Given the description of an element on the screen output the (x, y) to click on. 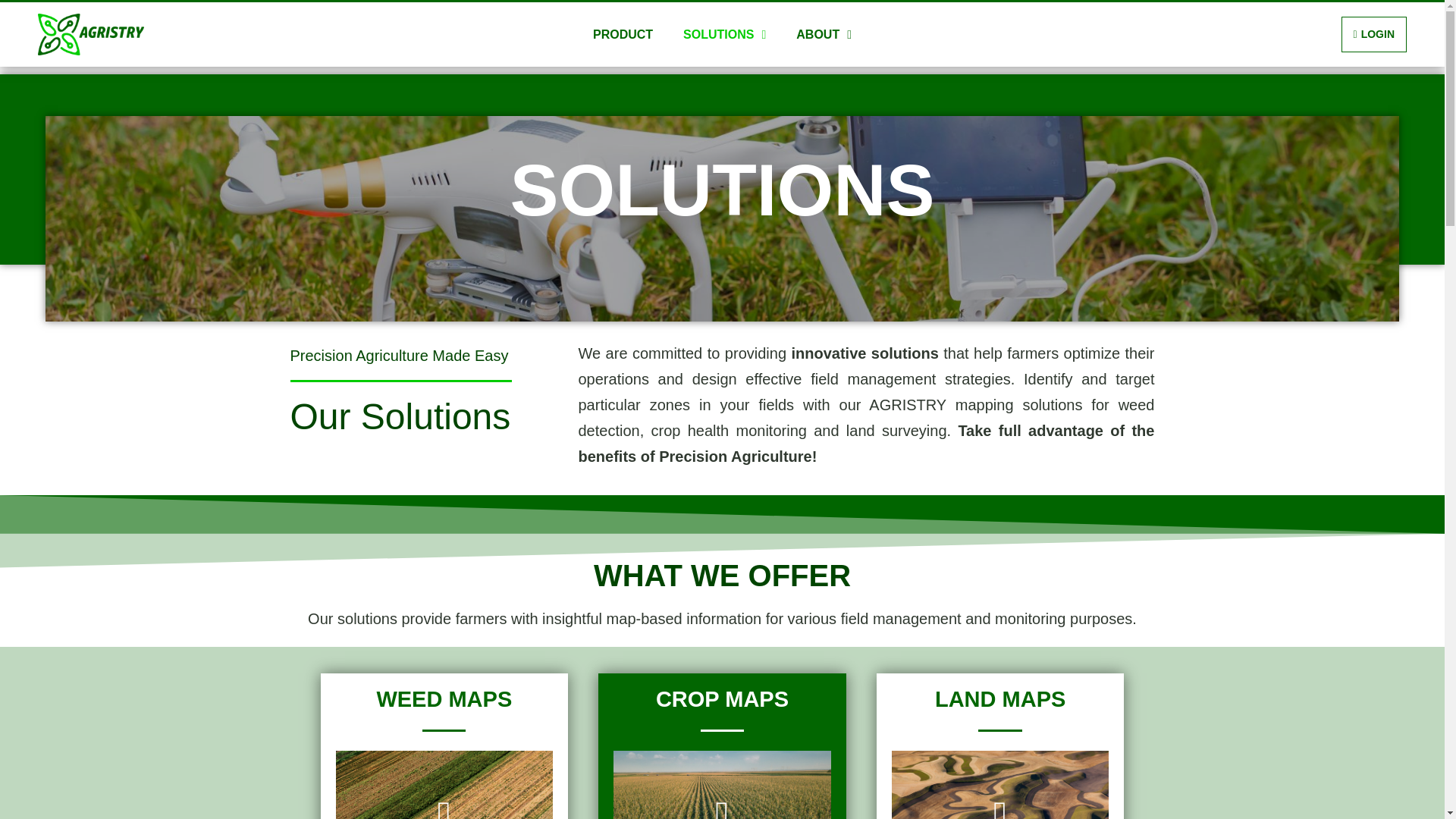
LOGIN (1373, 34)
PRODUCT (623, 34)
SOLUTIONS (724, 34)
ABOUT (823, 34)
AGRISTRY Logo (90, 34)
